Given the description of an element on the screen output the (x, y) to click on. 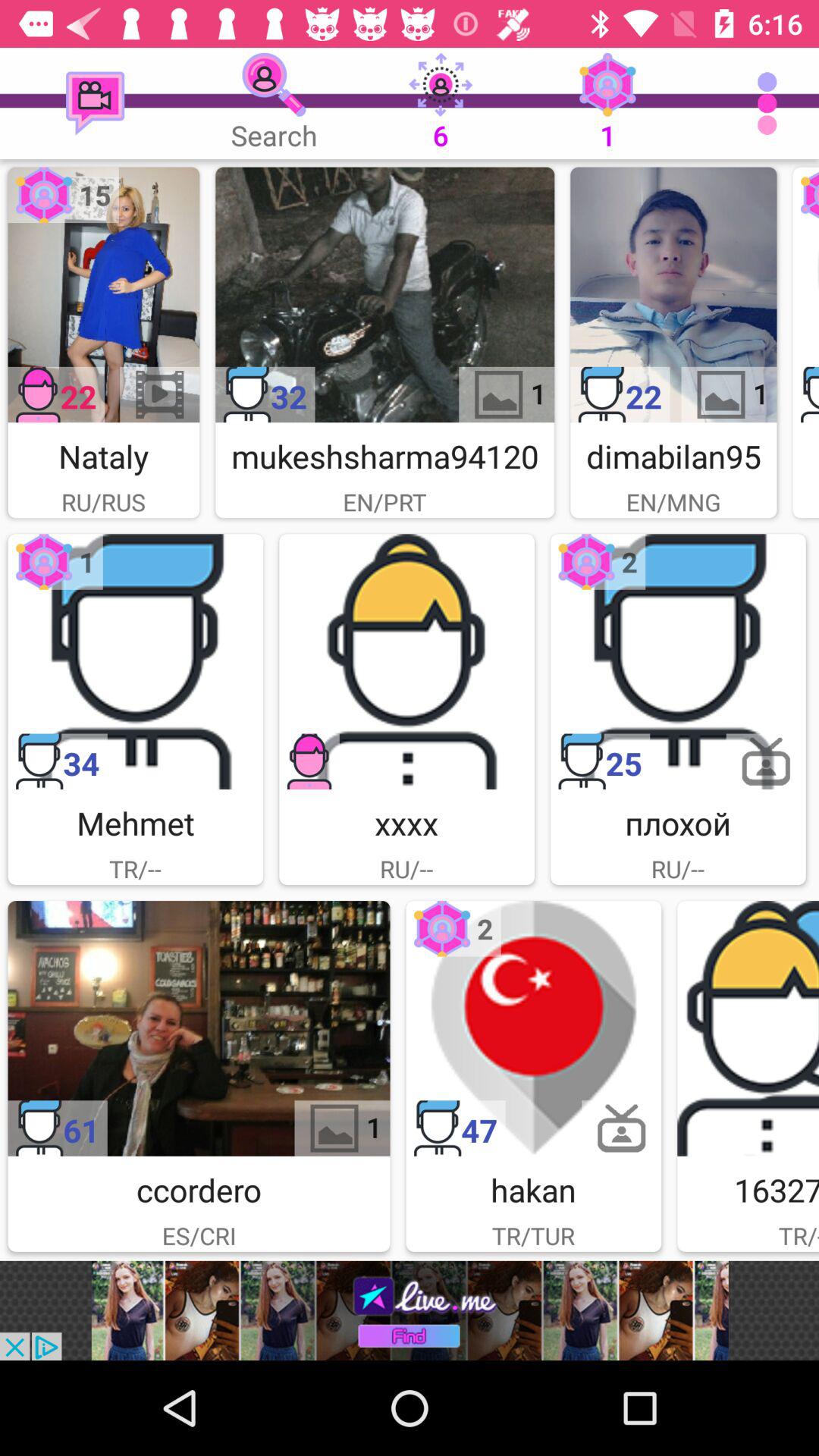
select chat partner (533, 1028)
